Given the description of an element on the screen output the (x, y) to click on. 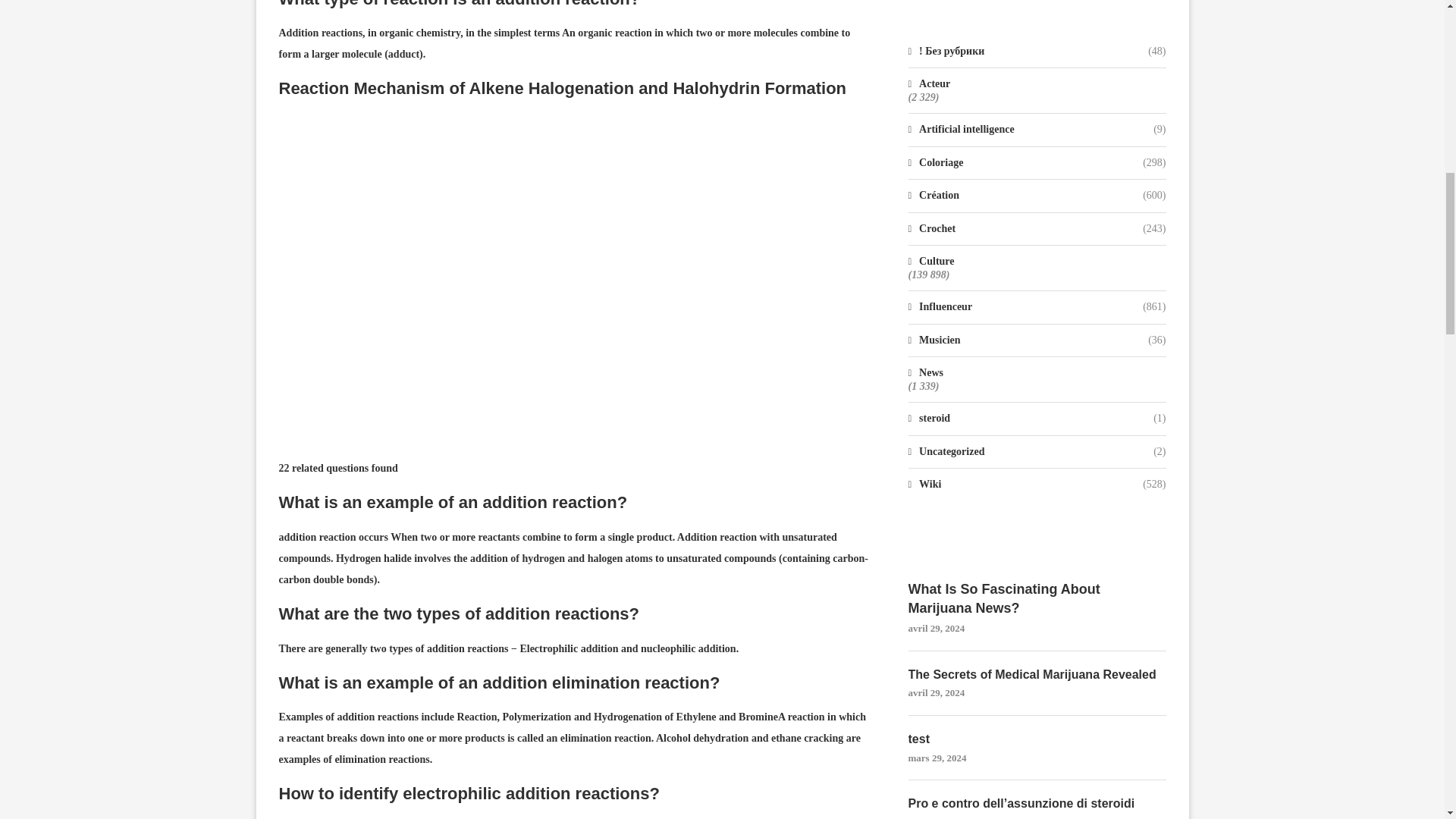
The Secrets of Medical Marijuana Revealed (1037, 674)
What Is So Fascinating About Marijuana News? (1037, 598)
test (1037, 739)
